Given the description of an element on the screen output the (x, y) to click on. 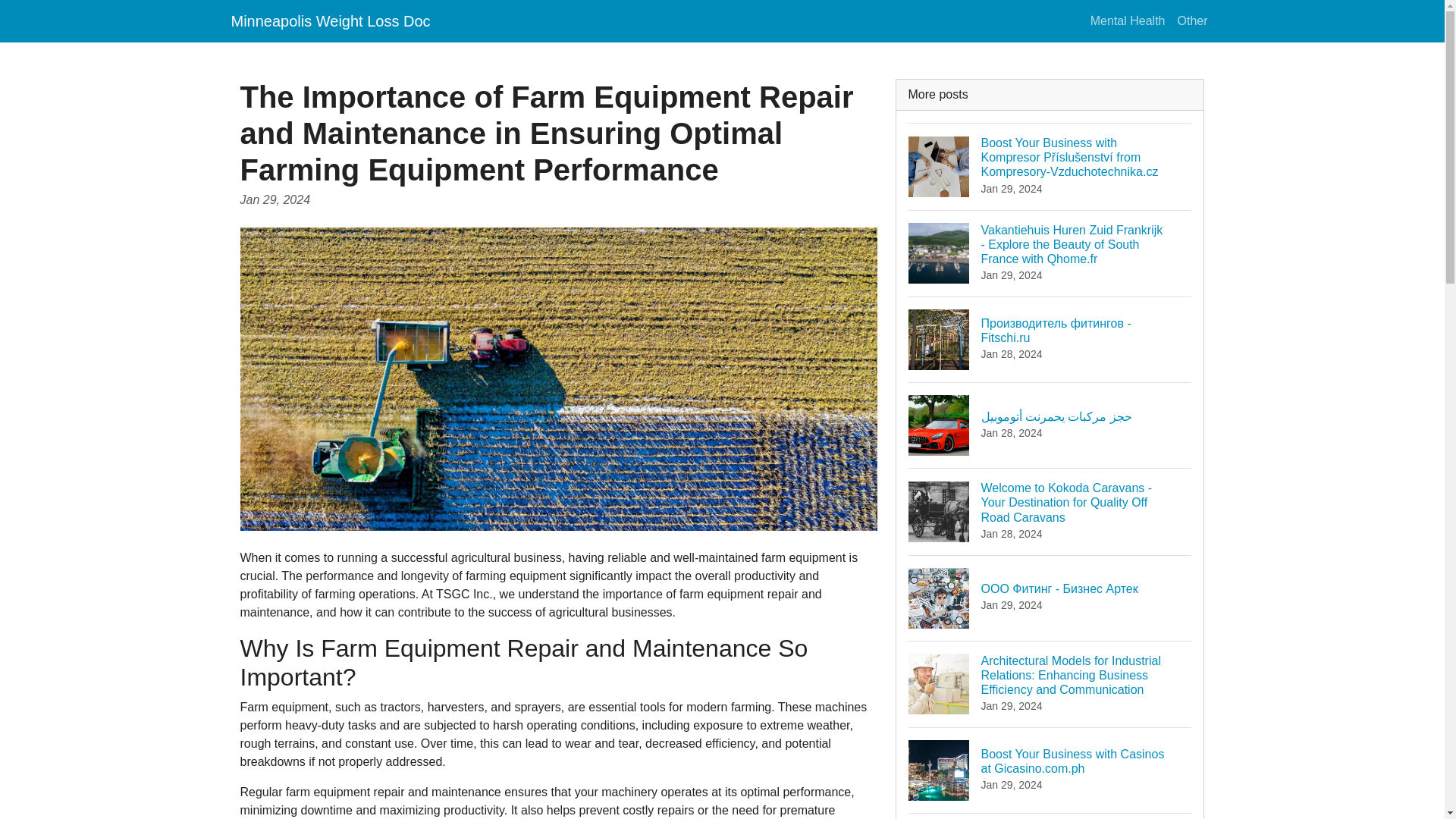
Minneapolis Weight Loss Doc (329, 20)
Mental Health (1128, 20)
Other (1191, 20)
